Given the description of an element on the screen output the (x, y) to click on. 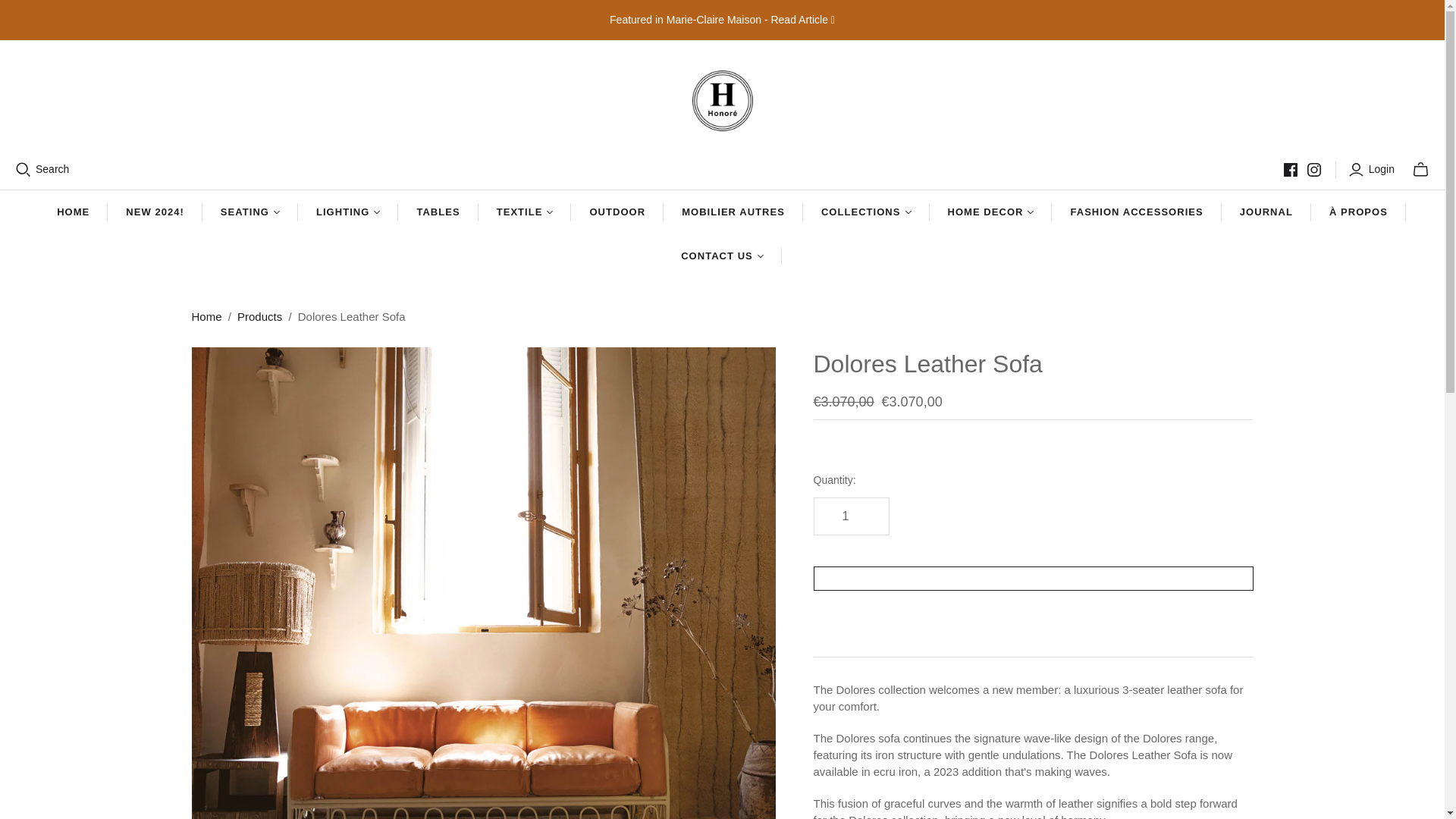
NEW 2024! (154, 212)
HOME (73, 212)
1 (850, 516)
Toggle mini cart (1419, 169)
MOBILIER AUTRES (733, 212)
Login (1373, 169)
OUTDOOR (616, 212)
TABLES (437, 212)
